Given the description of an element on the screen output the (x, y) to click on. 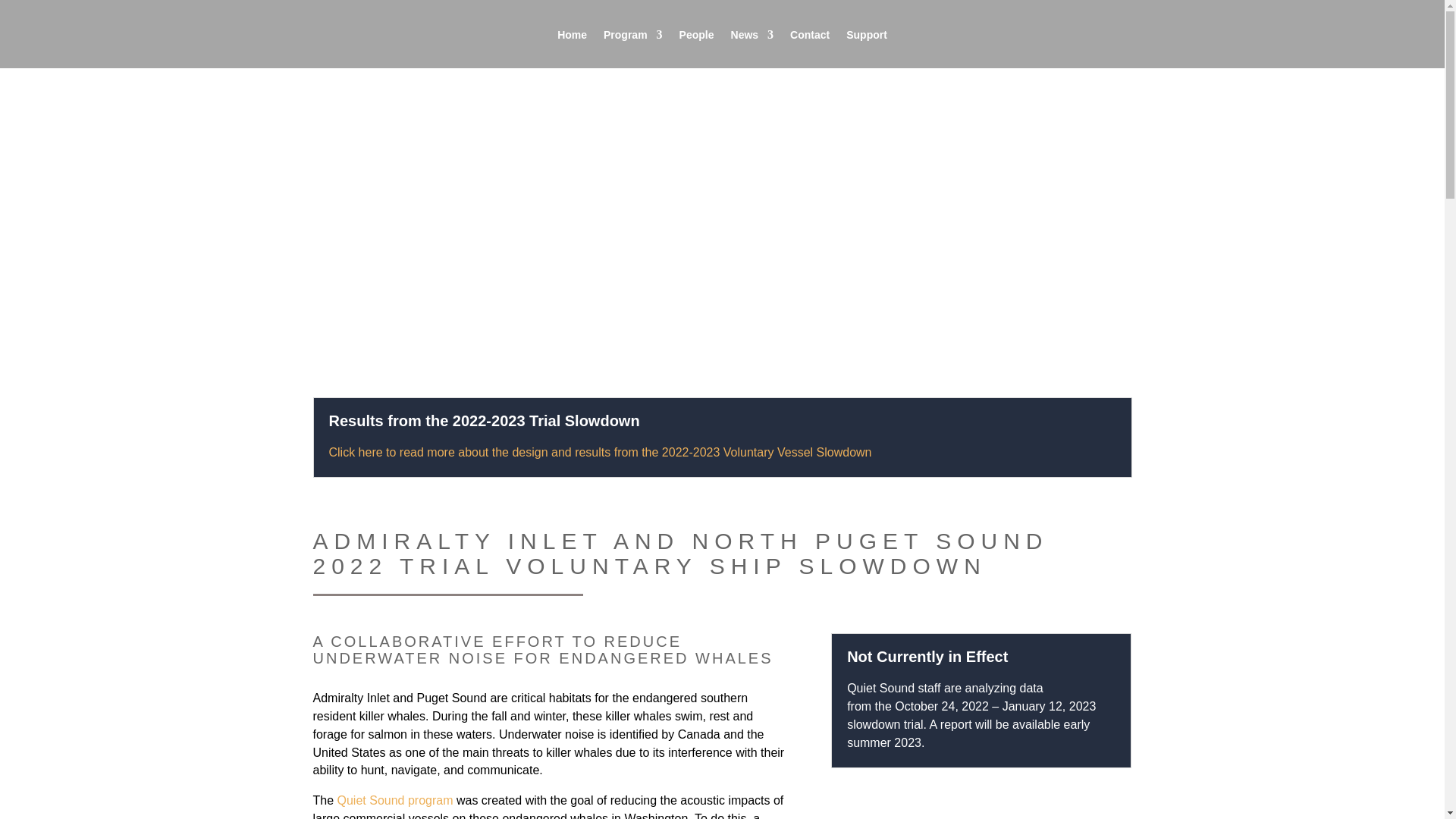
Quiet Sound program (394, 799)
Program (633, 34)
